Given the description of an element on the screen output the (x, y) to click on. 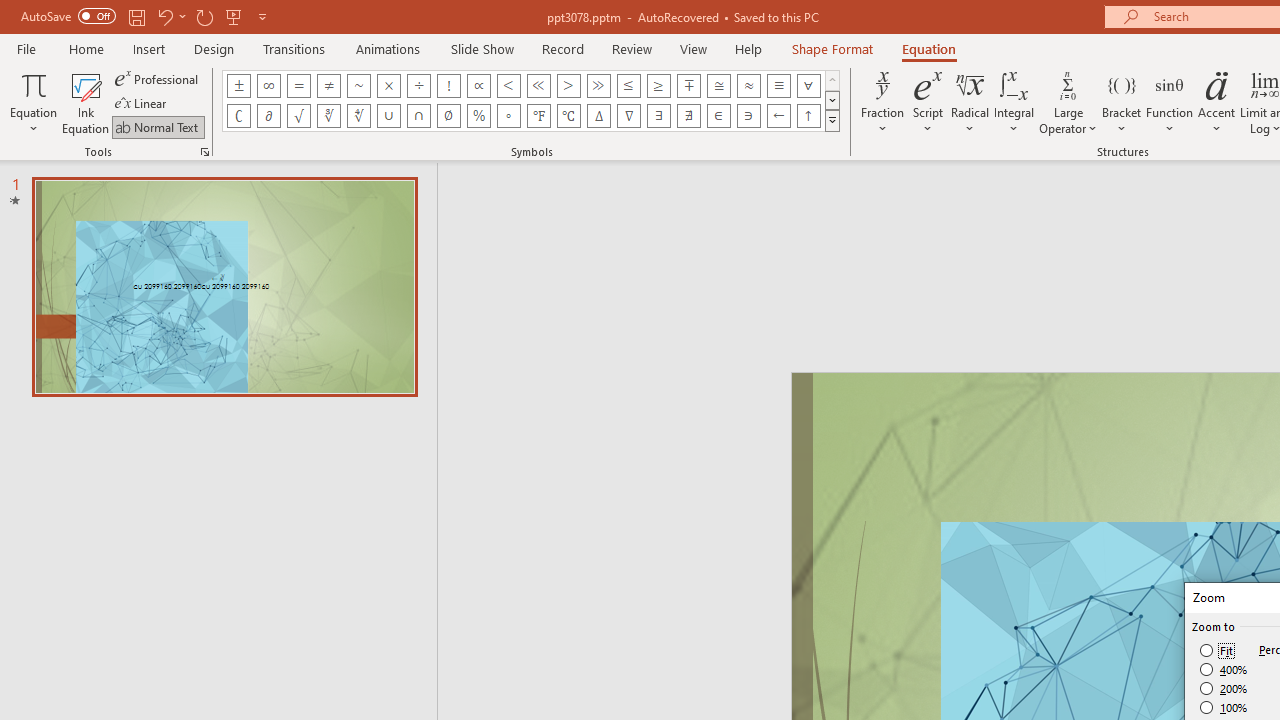
Equation Symbol There Exists (658, 115)
Equation Symbol Much Greater Than (598, 85)
Equation Symbols (832, 120)
Equation Symbol Less Than (508, 85)
Bracket (1121, 102)
Equation Symbol Union (388, 115)
Equation Symbol Nabla (628, 115)
Equation Symbol Percentage (478, 115)
Equation Symbol Plus Minus (238, 85)
Equation Symbol Fourth Root (358, 115)
Equation Symbol Left Arrow (778, 115)
